Given the description of an element on the screen output the (x, y) to click on. 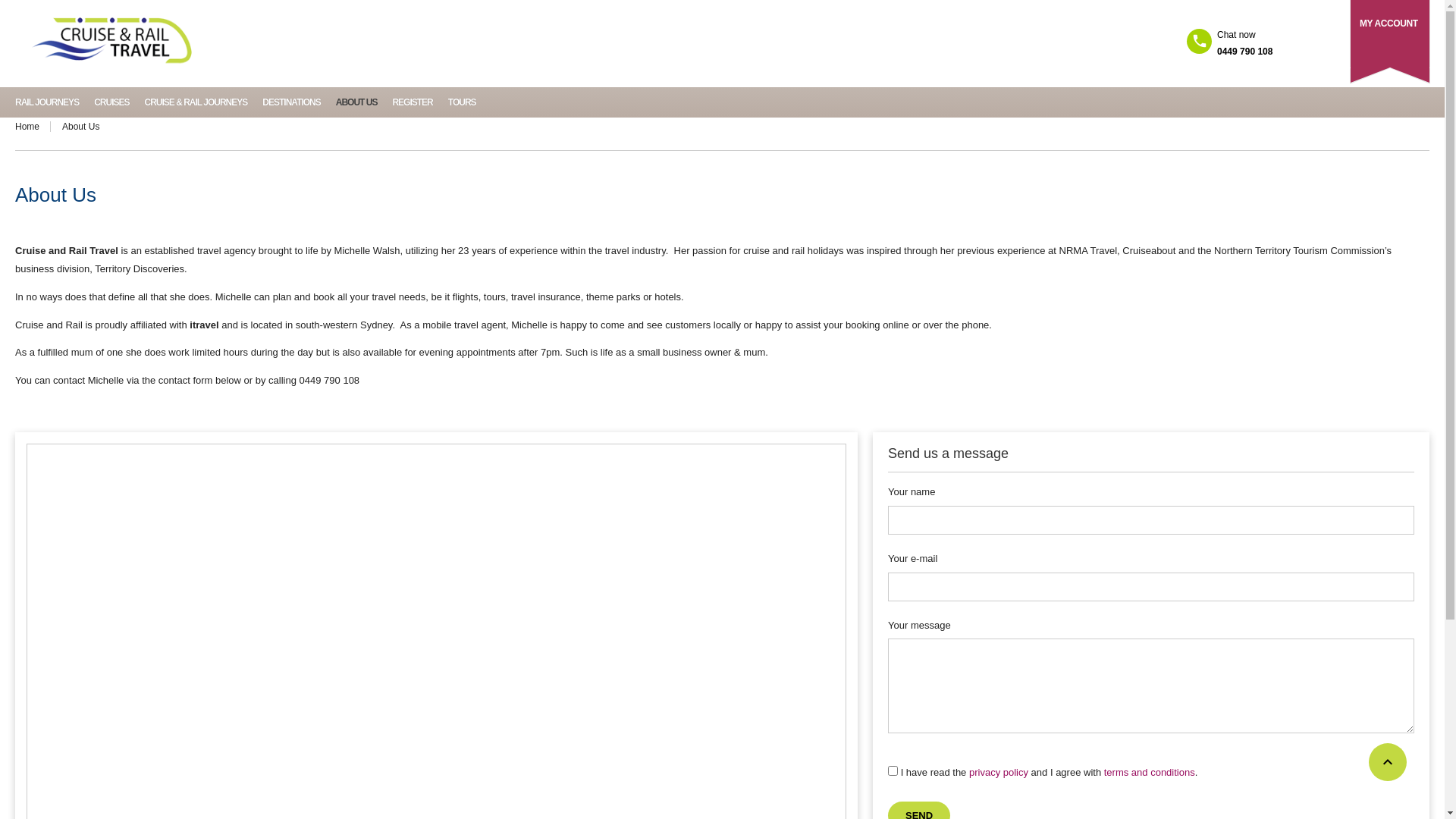
DESTINATIONS Element type: text (291, 102)
privacy policy Element type: text (998, 772)
REGISTER Element type: text (412, 102)
TOURS Element type: text (462, 102)
MY ACCOUNT Element type: text (1388, 23)
Cruise & Rail Travel |   About Us Element type: hover (111, 41)
CRUISES Element type: text (111, 102)
ABOUT US Element type: text (356, 102)
CRUISE & RAIL JOURNEYS Element type: text (195, 102)
RAIL JOURNEYS Element type: text (46, 102)
Home Element type: text (32, 126)
terms and conditions Element type: text (1149, 772)
